Given the description of an element on the screen output the (x, y) to click on. 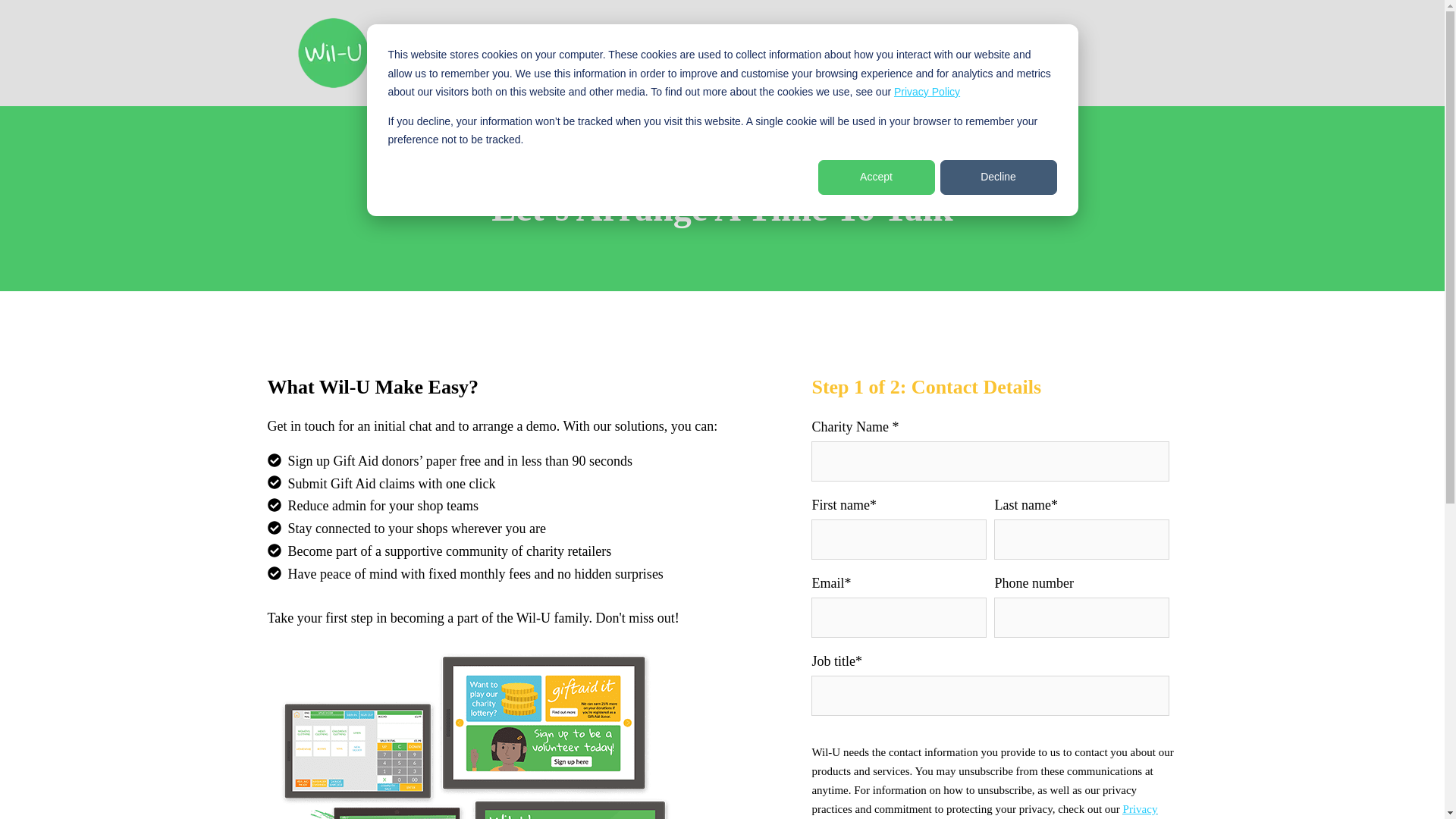
Wil-U-Logo-150-1 (333, 52)
Privacy Policy (983, 811)
